Given the description of an element on the screen output the (x, y) to click on. 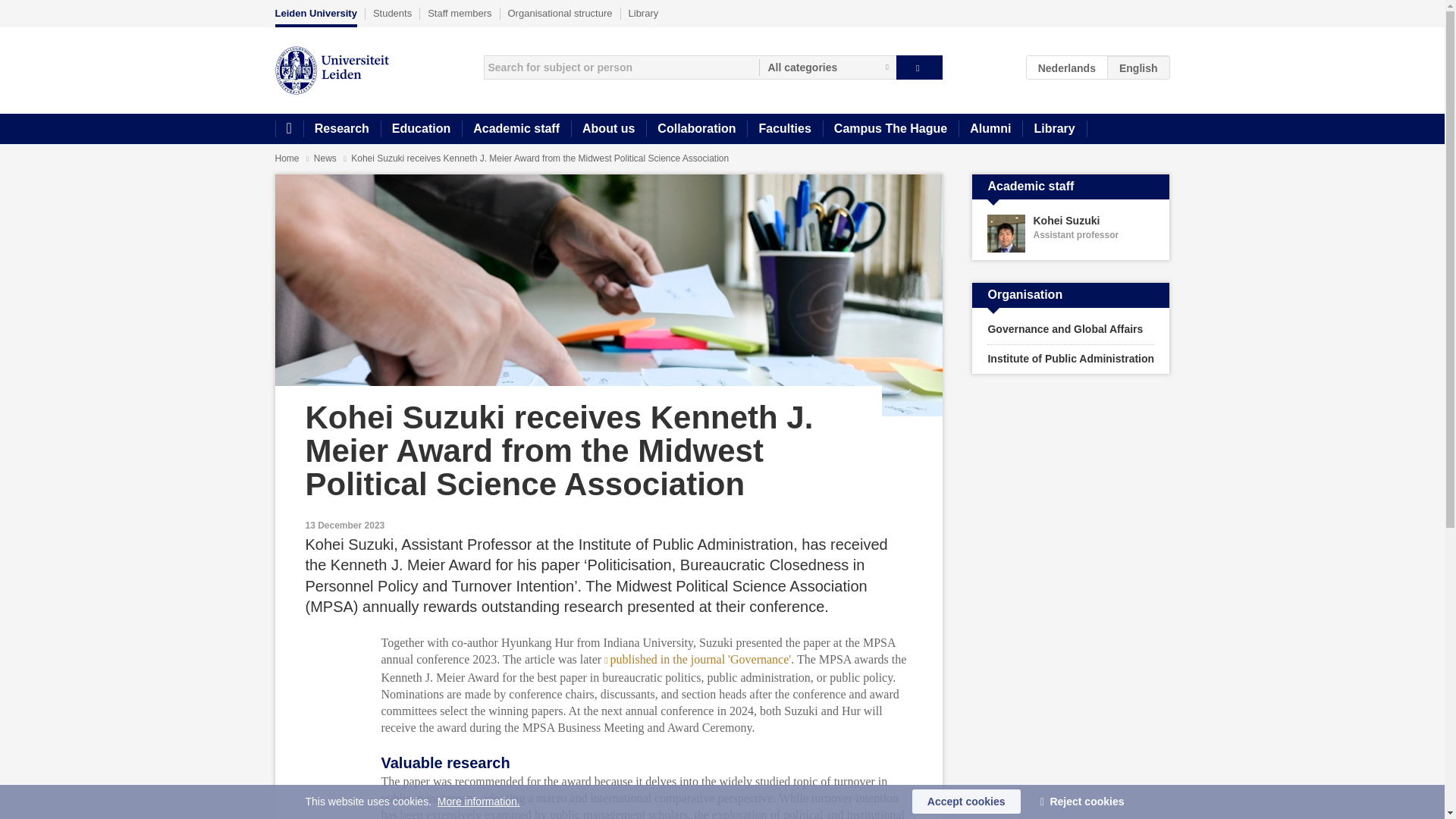
Students (392, 13)
Campus The Hague (890, 128)
Search (919, 67)
Faculties (784, 128)
Academic staff (515, 128)
Education (420, 128)
Home (288, 128)
About us (608, 128)
published in the journal 'Governance' (697, 658)
NL (1067, 67)
